Given the description of an element on the screen output the (x, y) to click on. 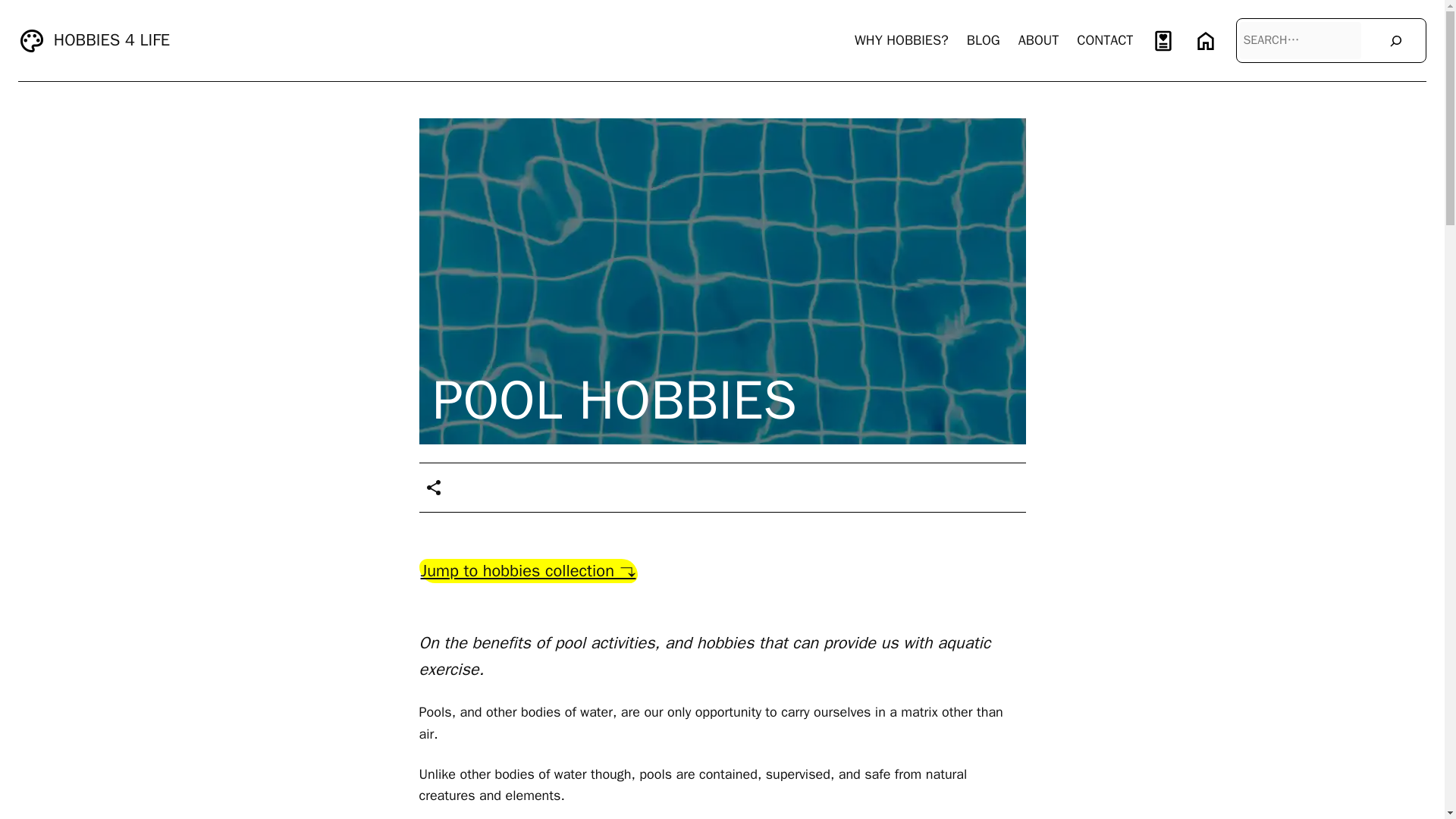
HOBBIES 4 LIFE (111, 39)
BLOG (983, 40)
WHY HOBBIES? (901, 40)
ABOUT (1038, 40)
CONTACT (1104, 40)
